Given the description of an element on the screen output the (x, y) to click on. 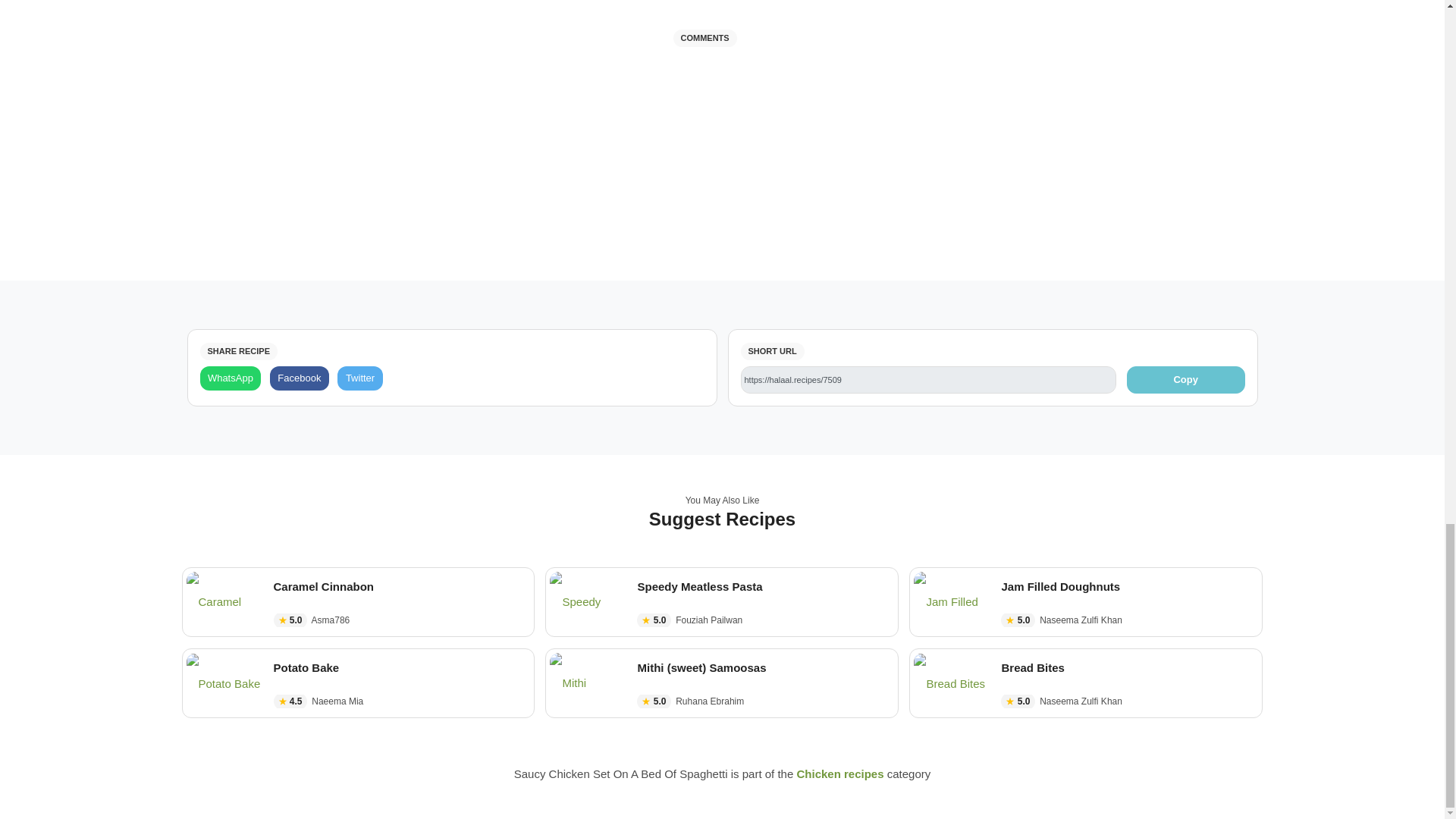
WhatsApp (231, 378)
Copy (1185, 379)
Facebook (299, 378)
Chicken recipes (839, 773)
Twitter (359, 378)
